Given the description of an element on the screen output the (x, y) to click on. 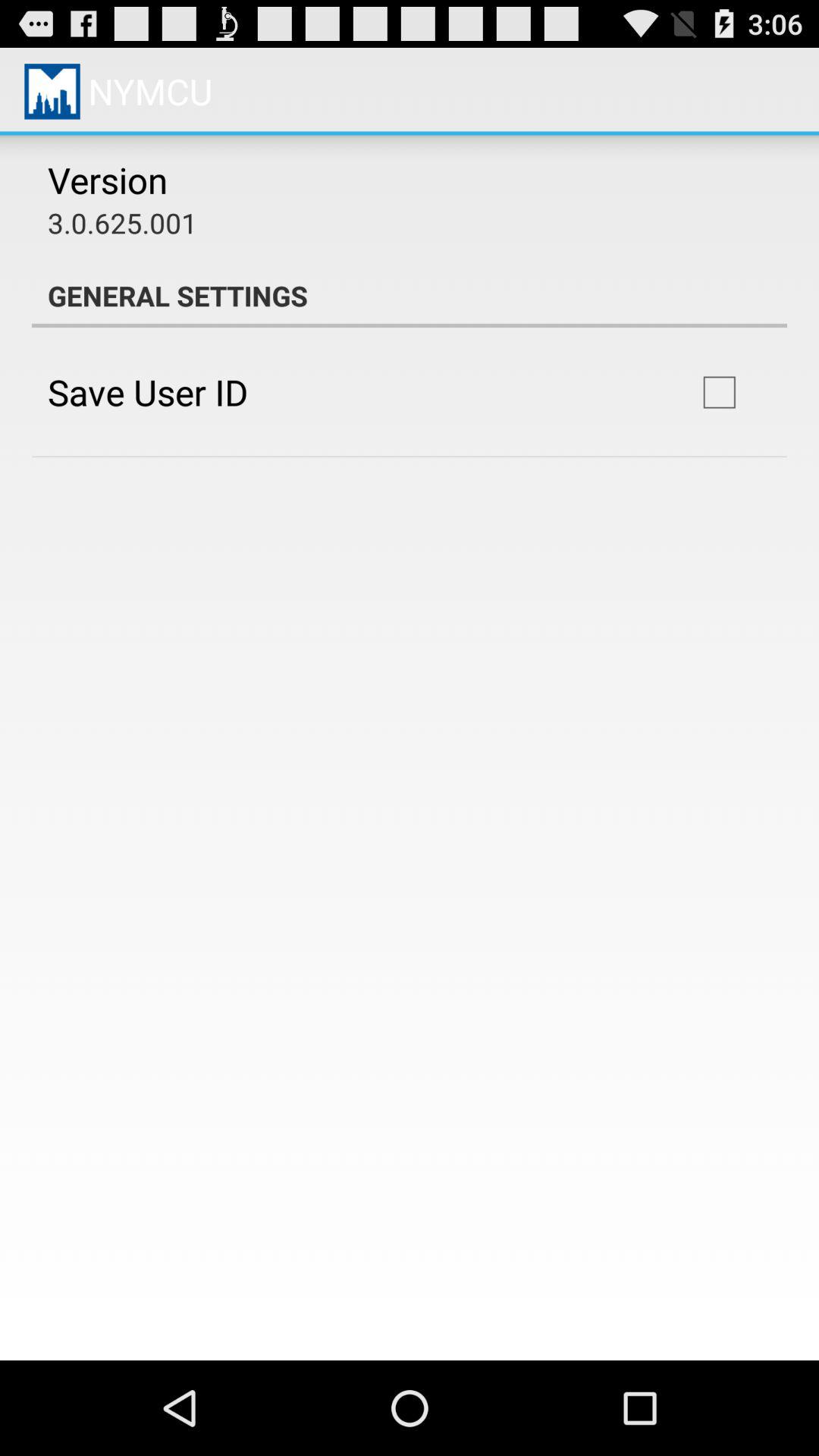
select the item at the top (409, 295)
